Given the description of an element on the screen output the (x, y) to click on. 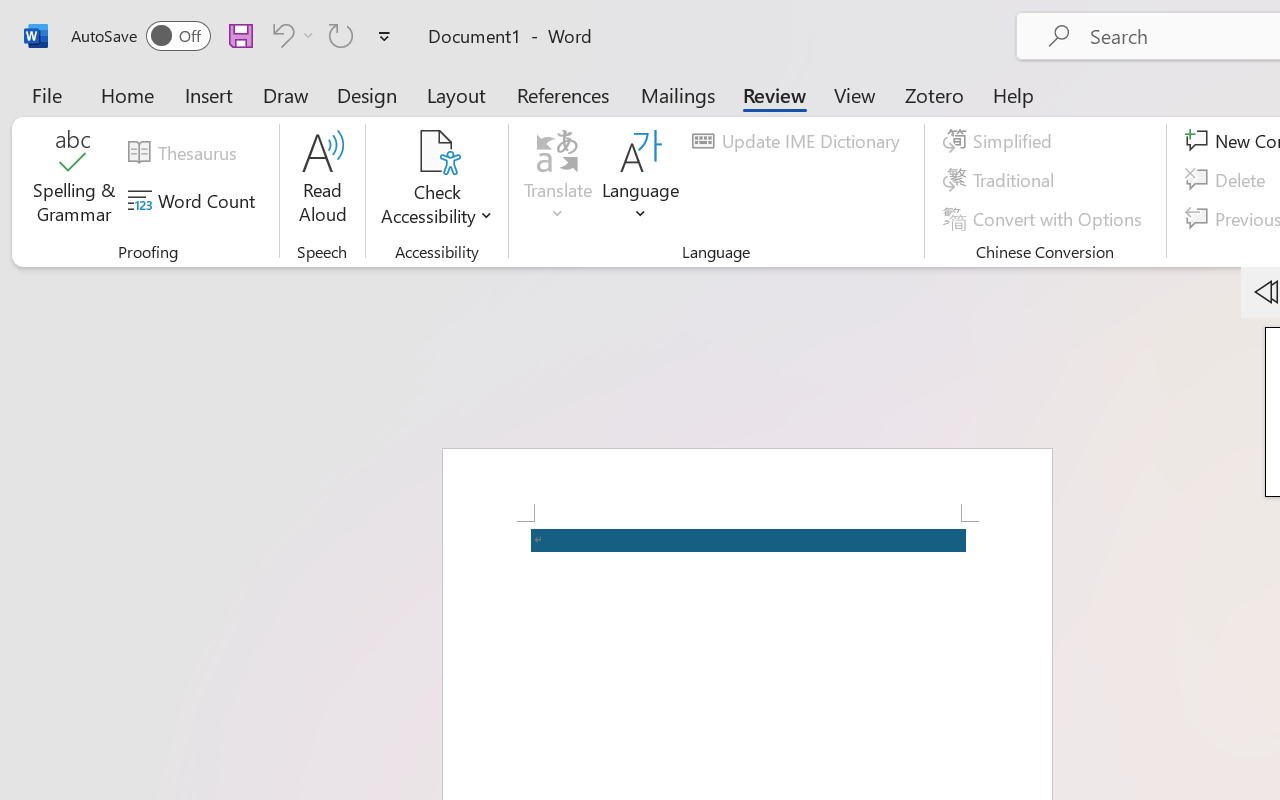
Delete (1227, 179)
Update IME Dictionary... (799, 141)
Undo Apply Quick Style Set (280, 35)
